Given the description of an element on the screen output the (x, y) to click on. 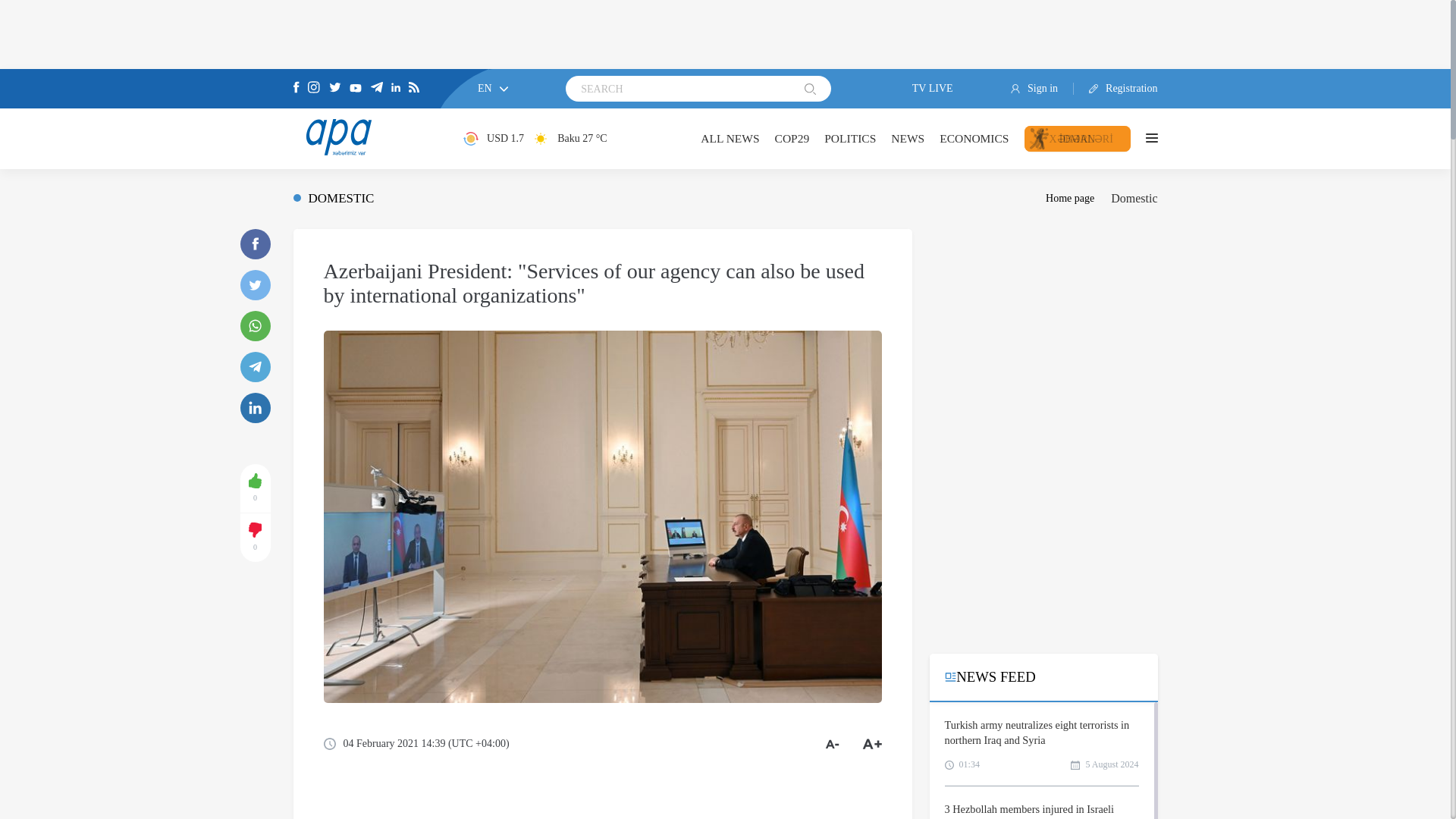
NEWS (907, 138)
USD 1.7 (493, 138)
ECONOMICS (974, 138)
POLITICS (850, 138)
EN (492, 88)
TV LIVE (921, 88)
Sign in (1042, 88)
Registration (1115, 88)
COP29 (791, 138)
ALL NEWS (729, 138)
